Given the description of an element on the screen output the (x, y) to click on. 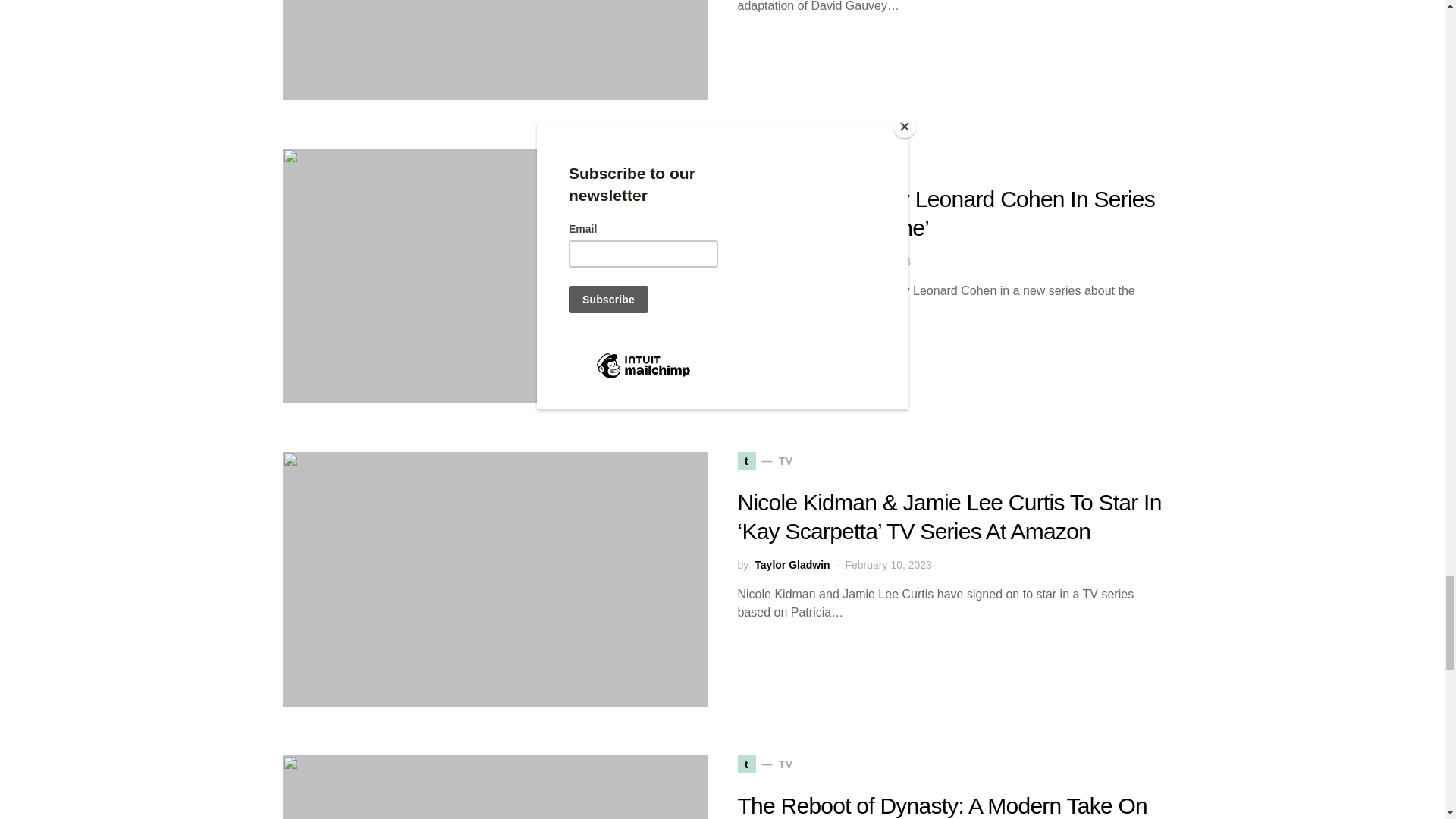
View all posts by Taylor Gladwin (791, 565)
View all posts by Taylor Gladwin (791, 261)
